Given the description of an element on the screen output the (x, y) to click on. 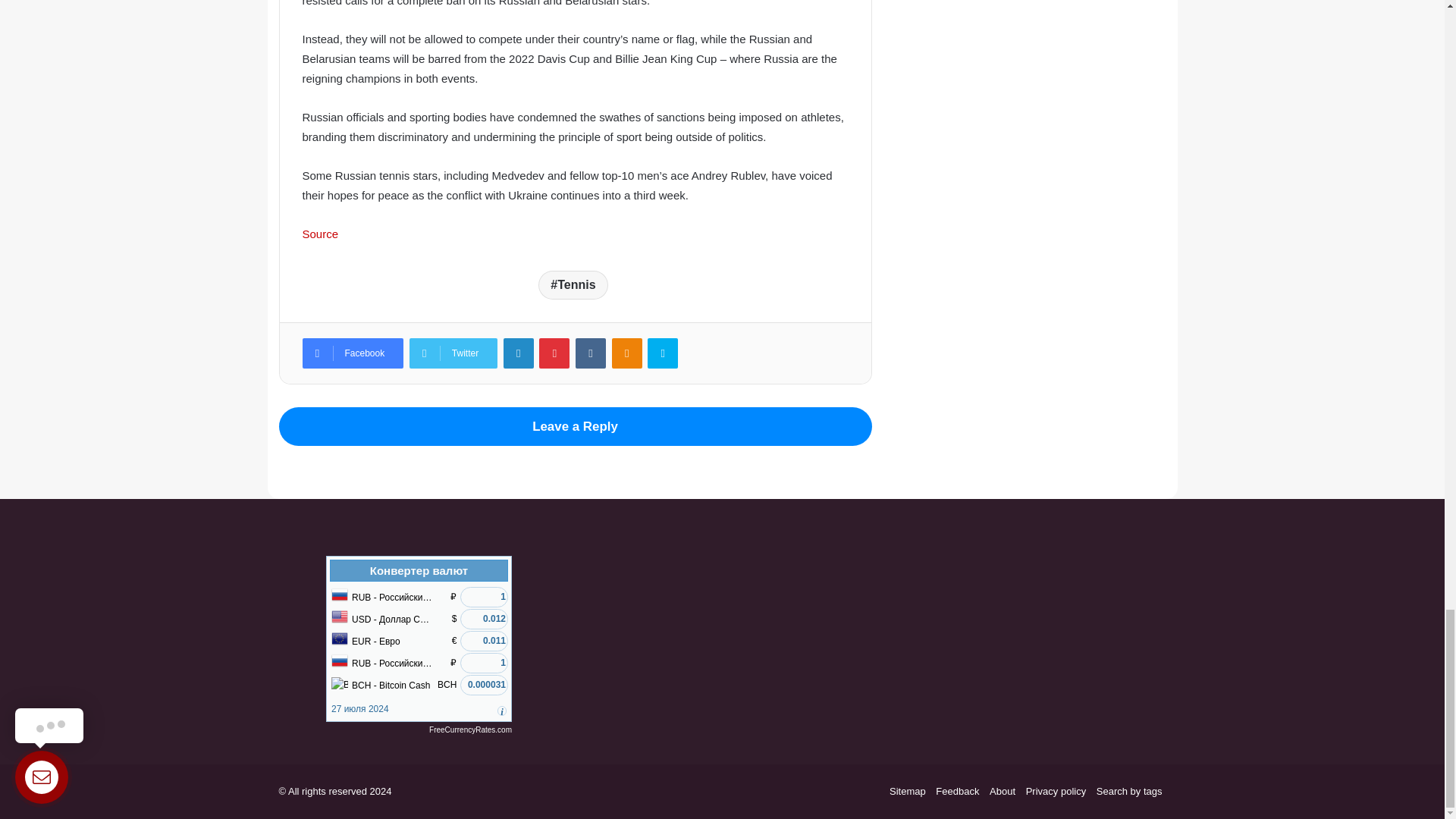
1 (484, 597)
VKontakte (590, 353)
0.000031 (484, 684)
LinkedIn (518, 353)
Twitter (453, 353)
Facebook (352, 353)
LinkedIn (518, 353)
0.012 (484, 619)
Facebook (352, 353)
Tennis (572, 285)
Source (319, 233)
Pinterest (553, 353)
0.011 (484, 640)
Twitter (453, 353)
1 (484, 662)
